Given the description of an element on the screen output the (x, y) to click on. 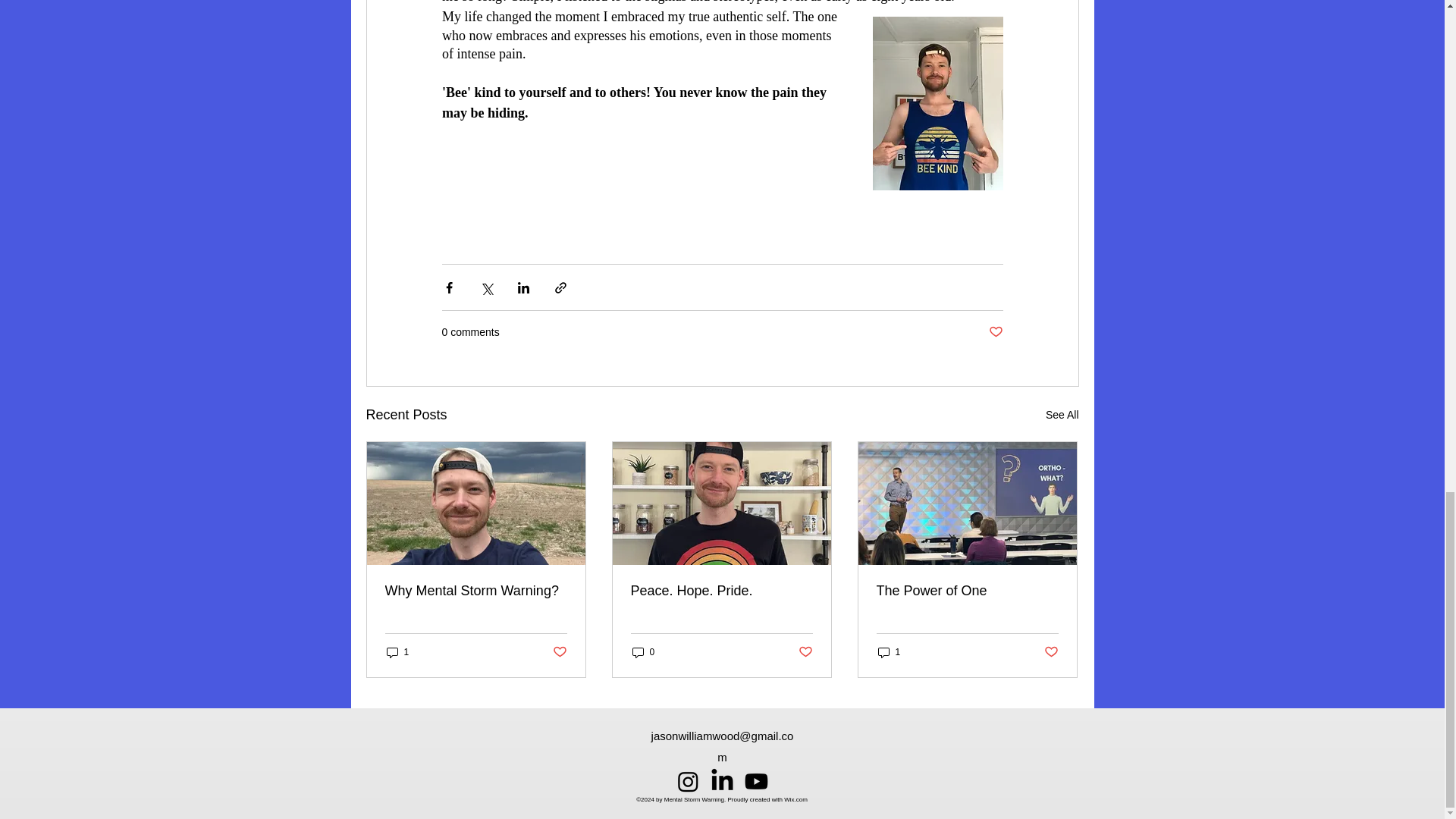
See All (1061, 414)
Post not marked as liked (558, 652)
Post not marked as liked (1050, 652)
Post not marked as liked (995, 332)
Why Mental Storm Warning? (476, 590)
Peace. Hope. Pride. (721, 590)
1 (397, 652)
Post not marked as liked (804, 652)
1 (889, 652)
0 (643, 652)
